Given the description of an element on the screen output the (x, y) to click on. 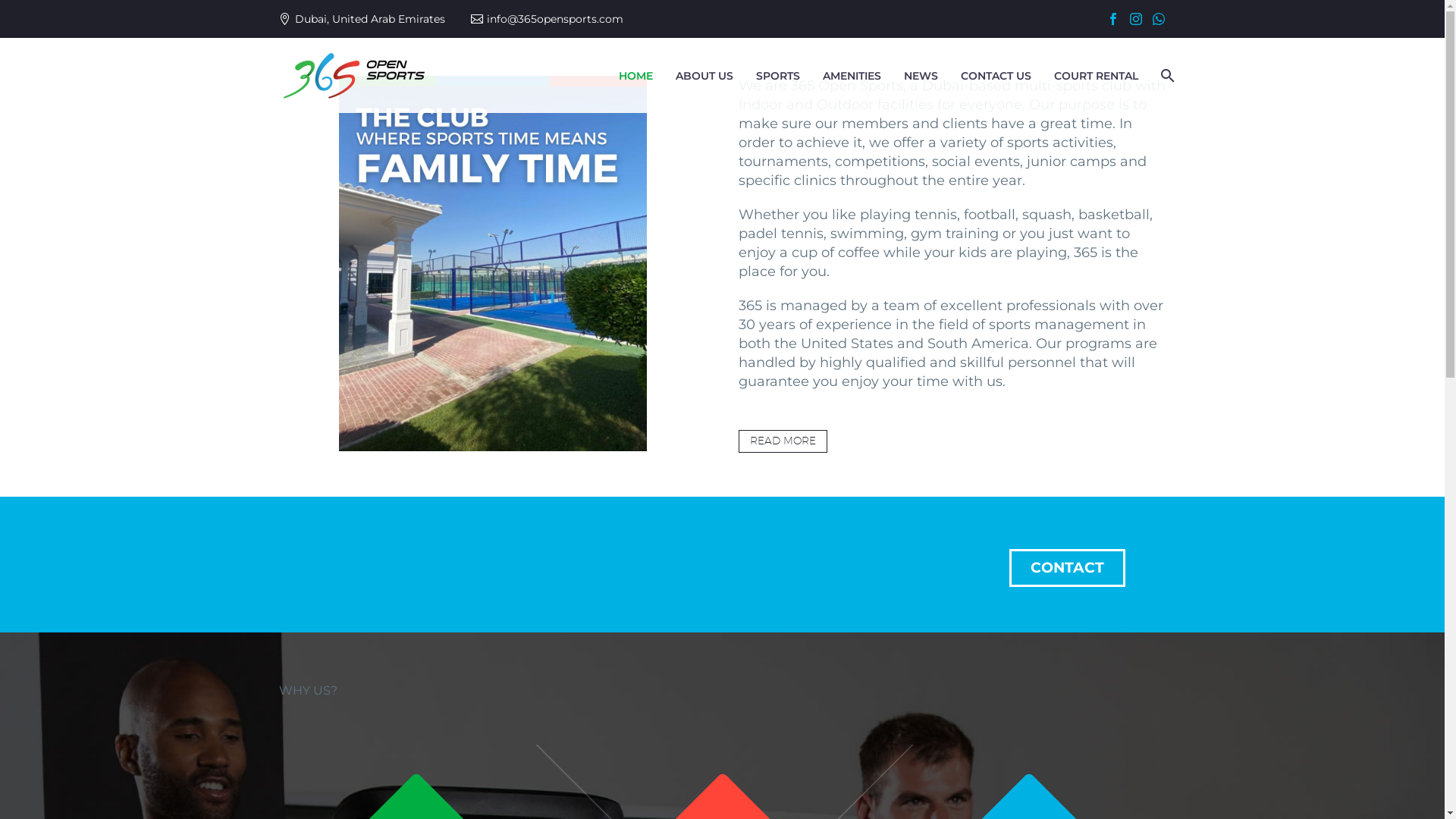
info@365opensports.com Element type: text (554, 18)
COURT RENTAL Element type: text (1094, 75)
AMENITIES Element type: text (851, 75)
Instagram Element type: hover (1134, 18)
Facebook Element type: hover (1112, 18)
CONTACT US Element type: text (995, 75)
NEWS Element type: text (919, 75)
READ MORE Element type: text (782, 440)
WhatsApp Element type: hover (1157, 18)
s Element type: text (1314, 156)
ABOUT US Element type: text (704, 75)
CONTACT Element type: text (1066, 567)
SPORTS Element type: text (777, 75)
HOME Element type: text (634, 75)
the club where sports time means time familyY Element type: hover (492, 263)
